Given the description of an element on the screen output the (x, y) to click on. 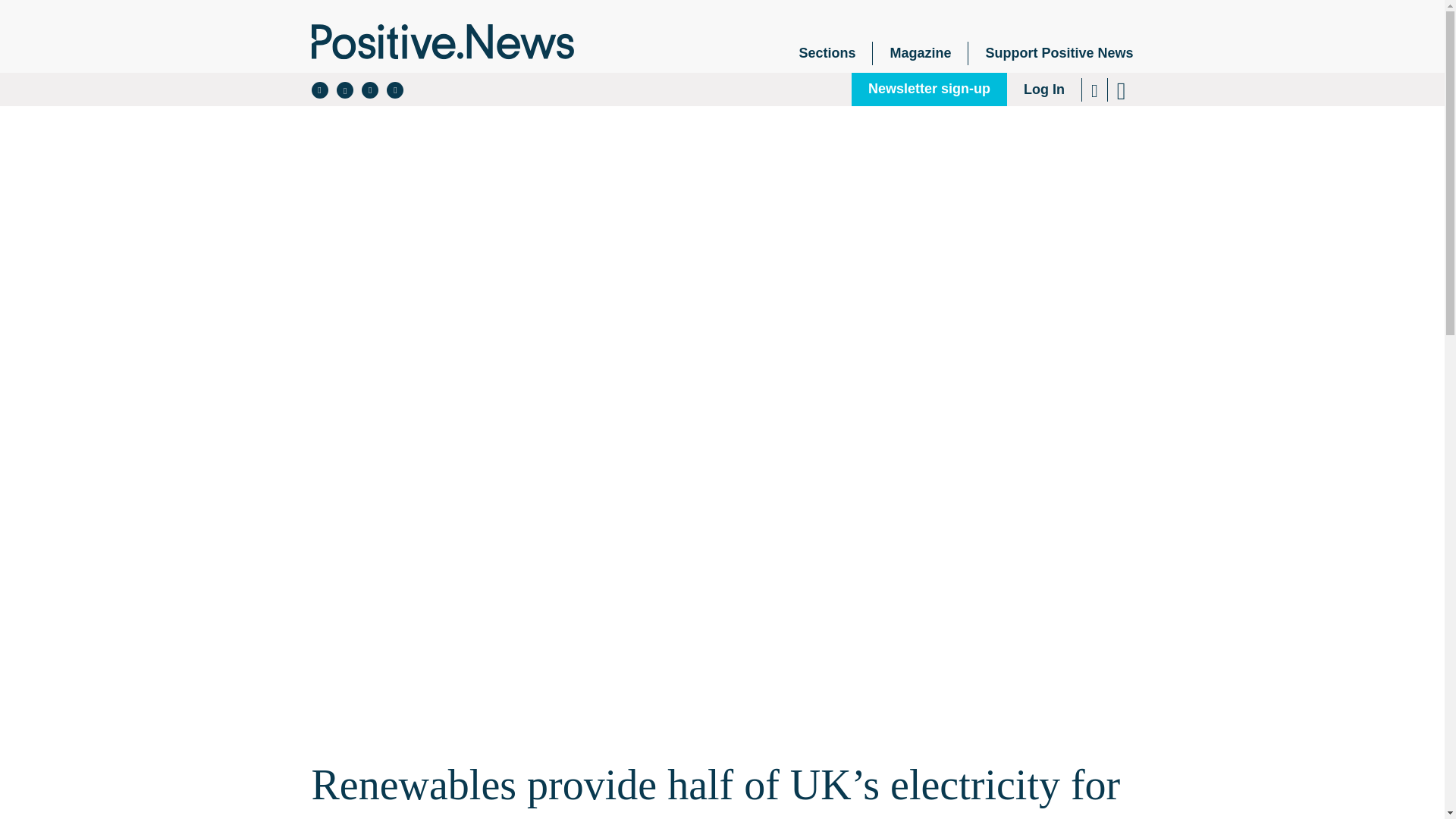
Magazine (920, 53)
Log In (1044, 89)
Sections (826, 53)
Newsletter sign-up (929, 89)
Support Positive News (1050, 53)
